Given the description of an element on the screen output the (x, y) to click on. 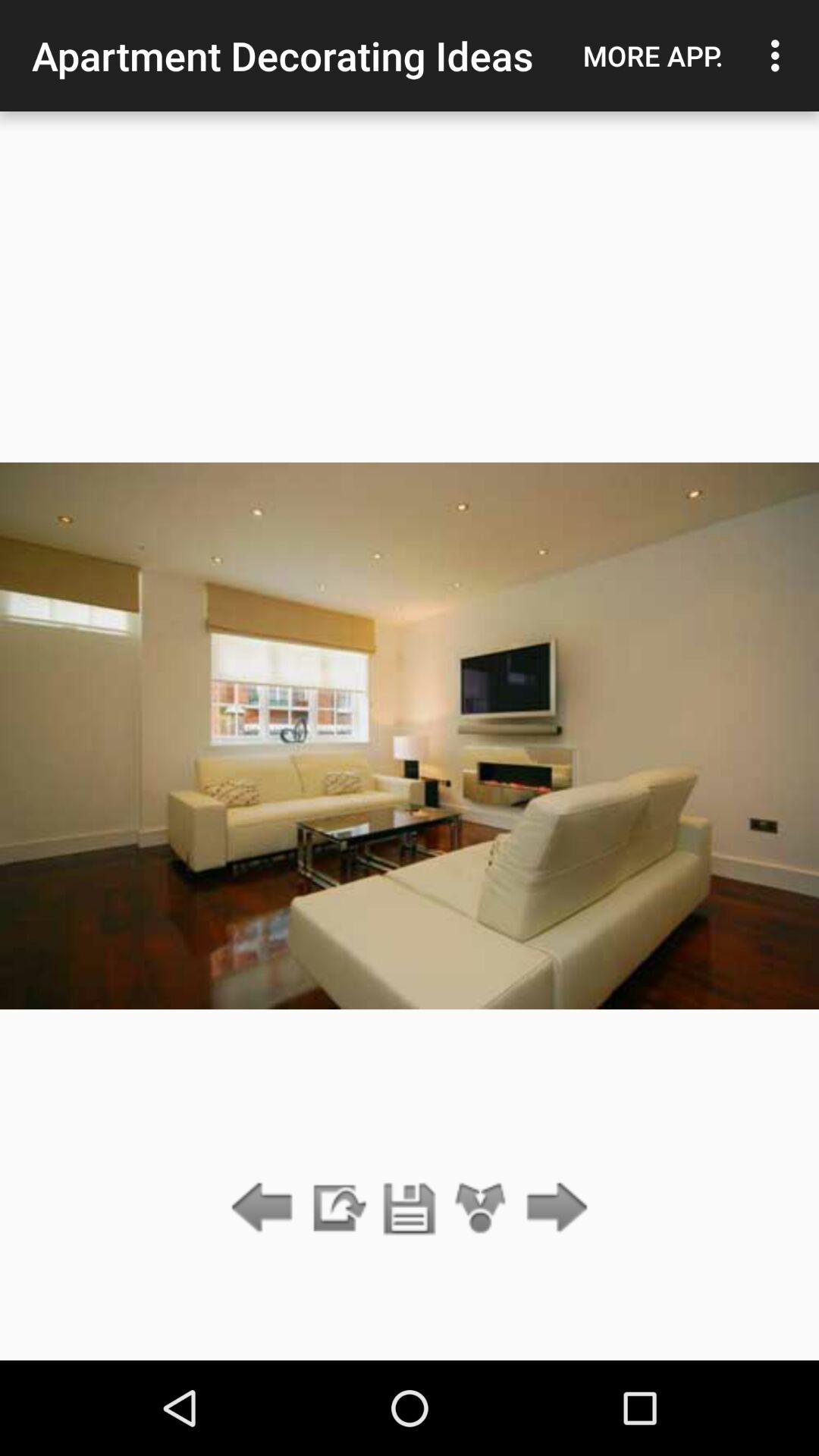
turn on item to the right of apartment decorating ideas icon (653, 55)
